Given the description of an element on the screen output the (x, y) to click on. 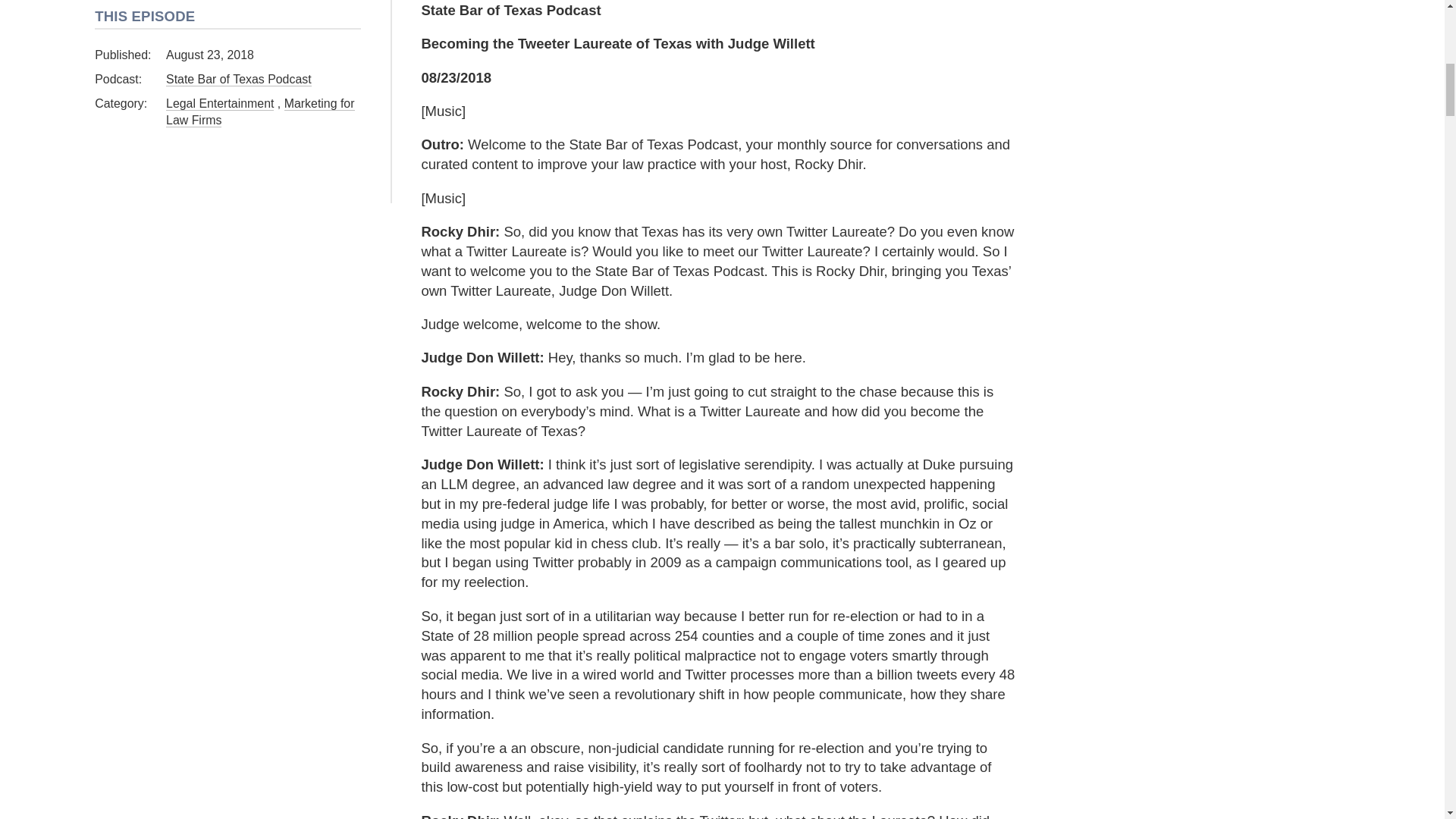
Marketing for Law Firms (259, 112)
State Bar of Texas Podcast (238, 79)
Legal Entertainment (219, 103)
